Given the description of an element on the screen output the (x, y) to click on. 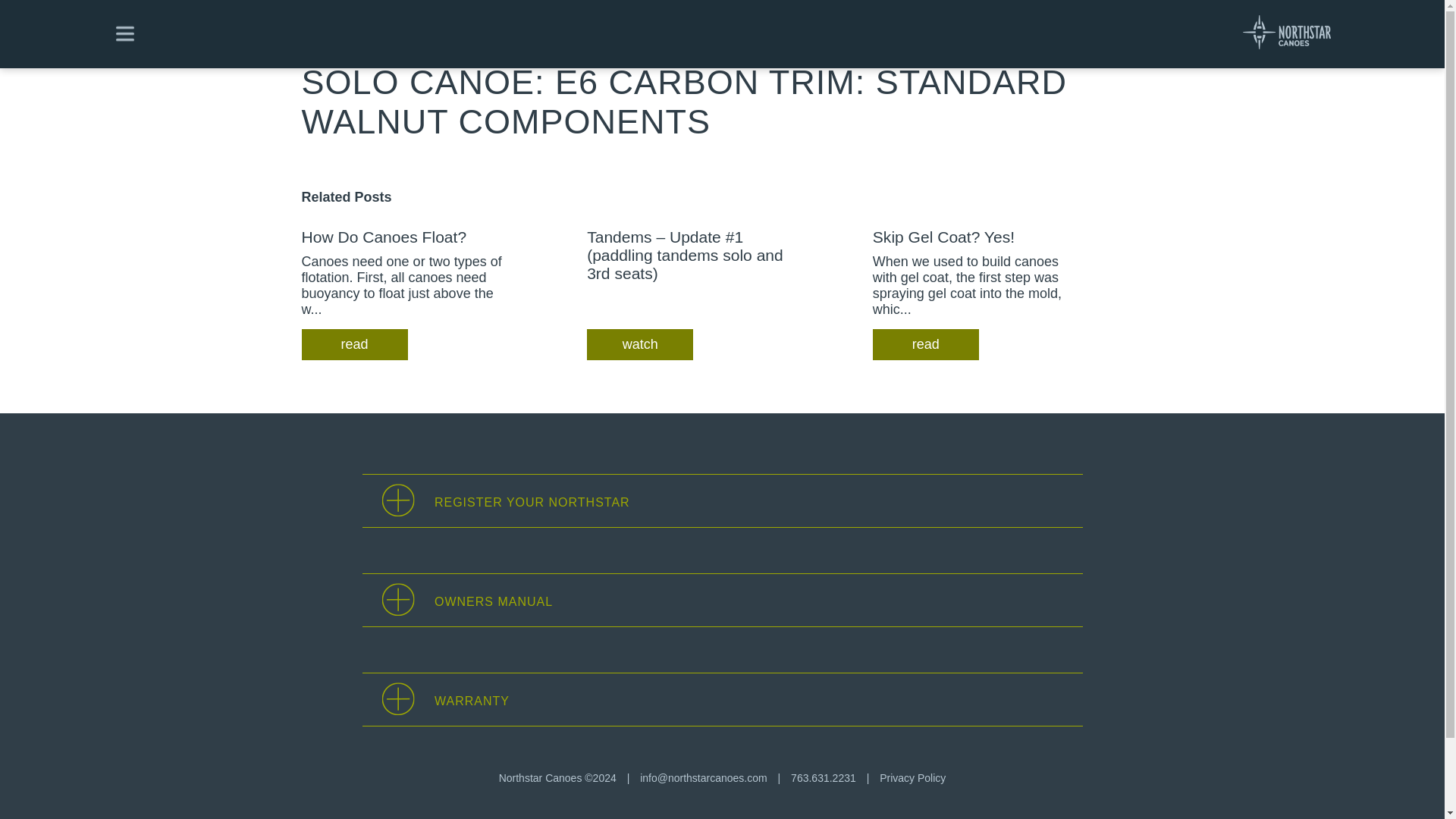
read (354, 344)
Explore (324, 45)
read (925, 344)
Privacy Policy (911, 777)
watch (639, 344)
